Given the description of an element on the screen output the (x, y) to click on. 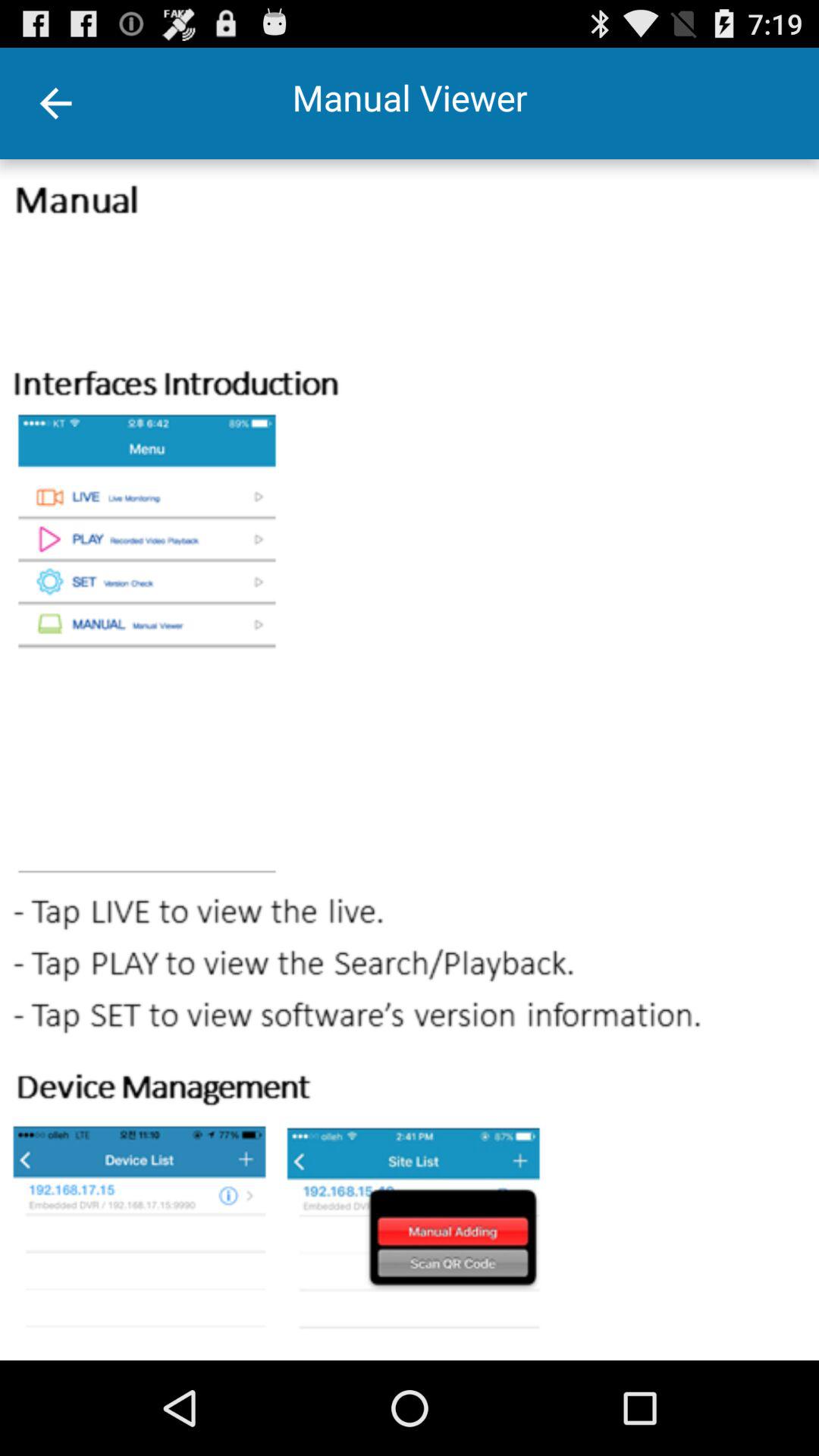
advertisement (409, 759)
